Given the description of an element on the screen output the (x, y) to click on. 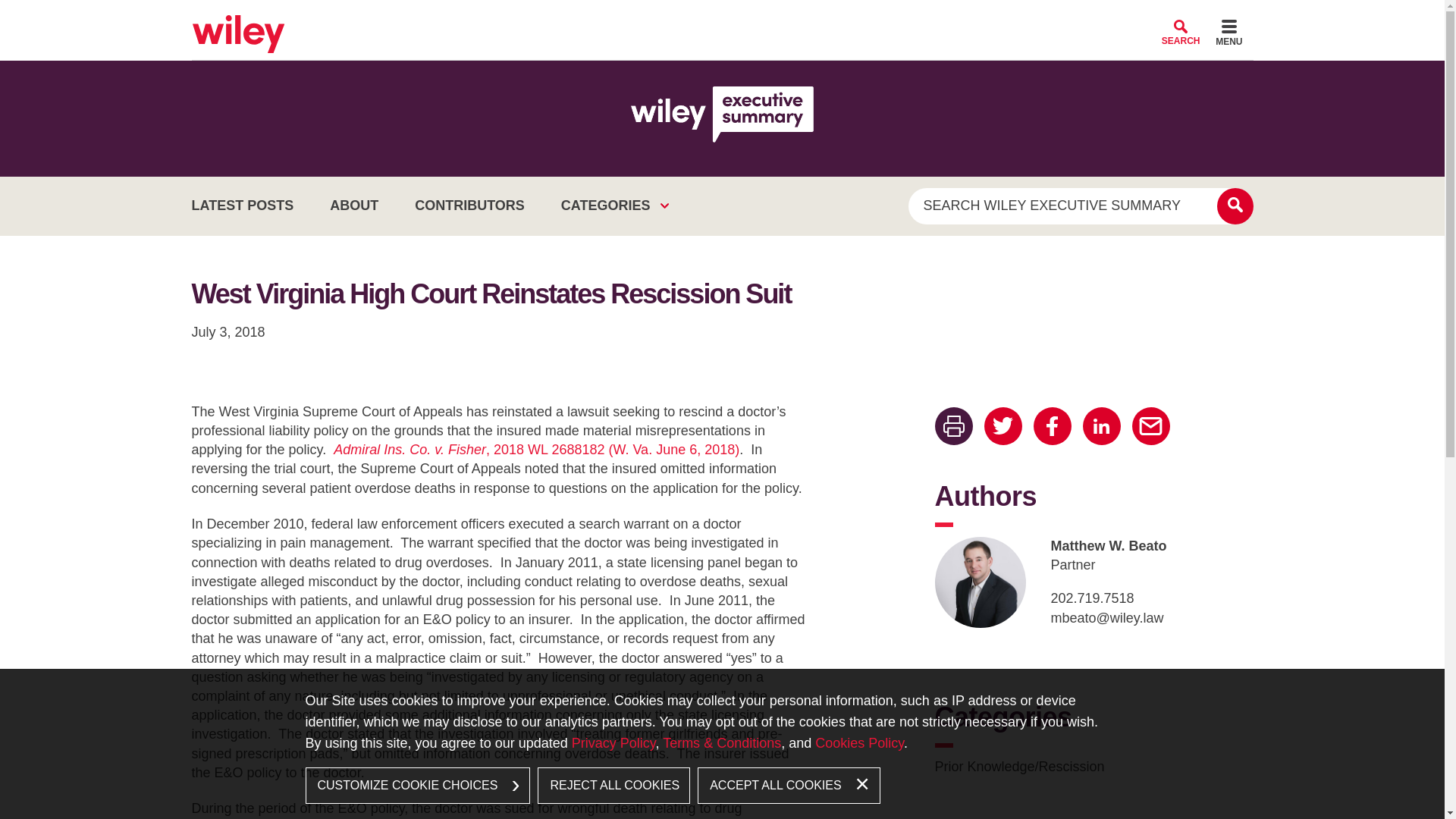
Main Content (669, 17)
Twitter (1003, 426)
Email (1150, 426)
Main Menu (676, 17)
Print (953, 426)
Menu (1228, 34)
Facebook (1051, 426)
Menu (676, 17)
SEARCH (1180, 32)
MENU (1228, 34)
LinkedIn (1102, 426)
